Given the description of an element on the screen output the (x, y) to click on. 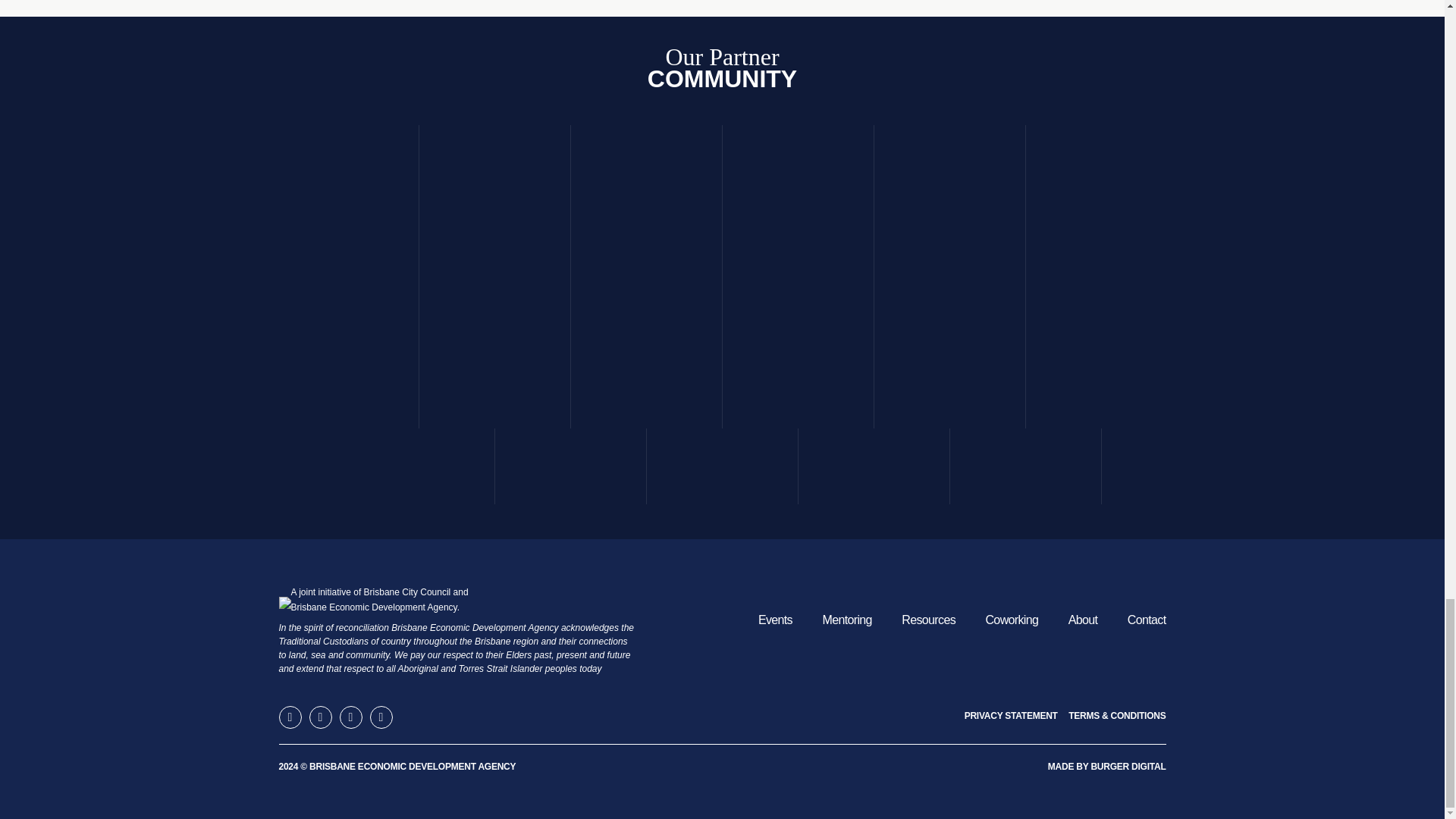
Resources (928, 619)
Coworking (1011, 619)
Events (775, 619)
Mentoring (846, 619)
Mentoring (846, 619)
Coworking (1011, 619)
Events (775, 619)
Contact (1146, 619)
About (1082, 619)
Resources (928, 619)
